Given the description of an element on the screen output the (x, y) to click on. 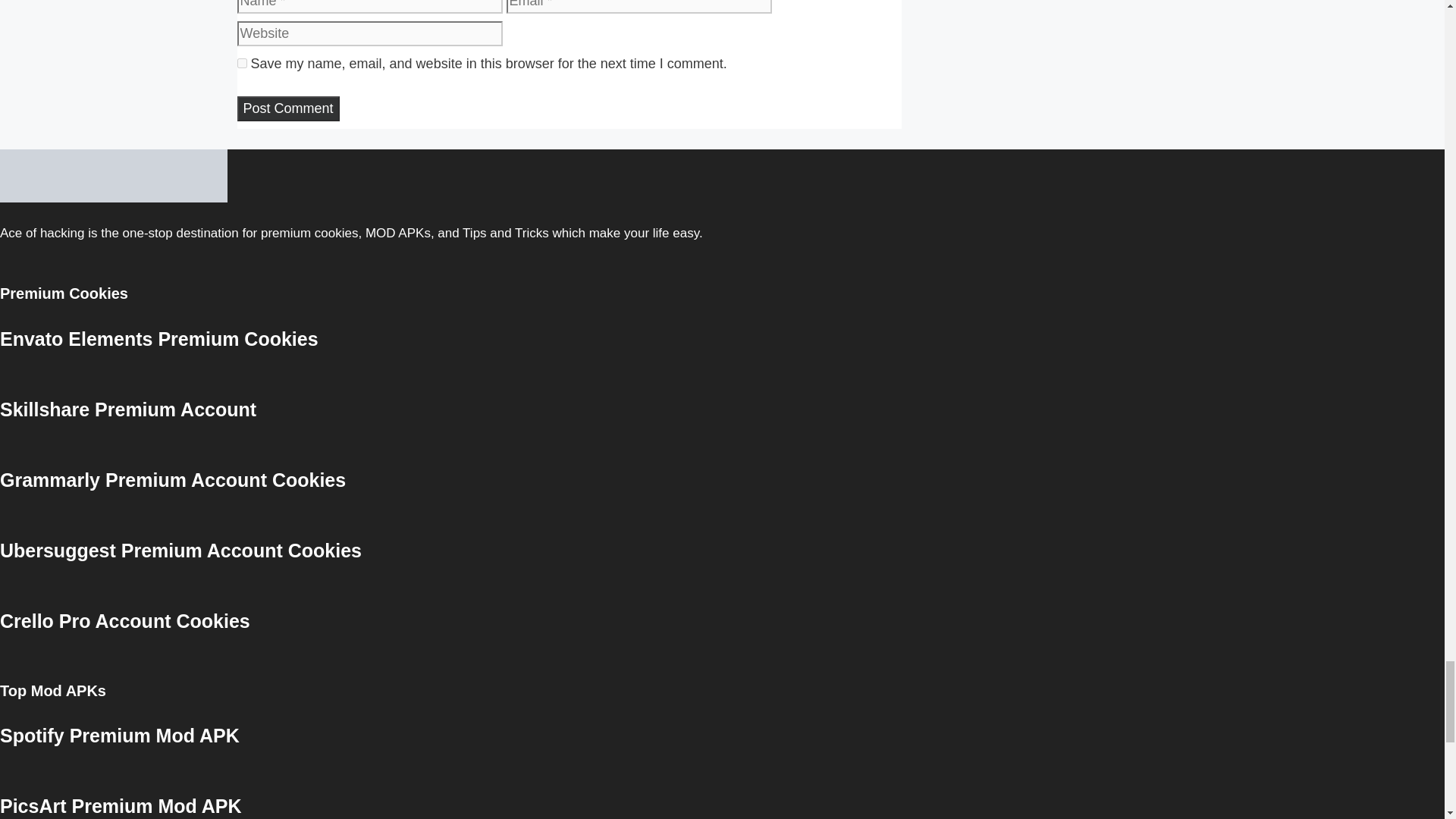
yes (240, 62)
Post Comment (287, 108)
